Given the description of an element on the screen output the (x, y) to click on. 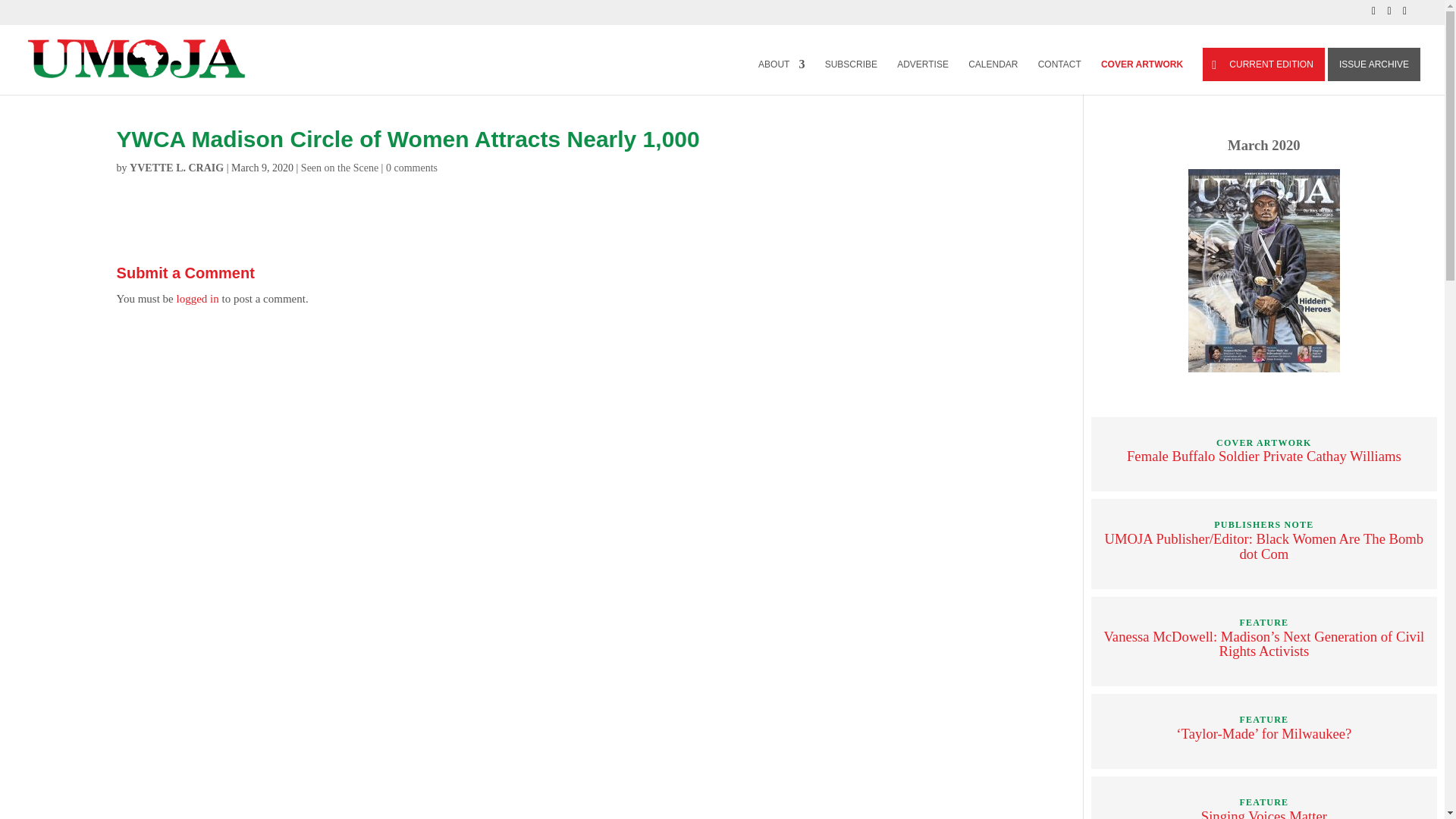
CONTACT (1059, 76)
COVER ARTWORK (1141, 76)
YVETTE L. CRAIG (176, 167)
0 comments (411, 167)
SUBSCRIBE (851, 76)
ABOUT (781, 76)
CALENDAR (992, 76)
ADVERTISE (922, 76)
CURRENT EDITION (1262, 64)
March 2020 (1263, 145)
Female Buffalo Soldier Private Cathay Williams (1263, 455)
Seen on the Scene (339, 167)
Posts by Yvette L. Craig (176, 167)
ISSUE ARCHIVE (1374, 64)
logged in (197, 298)
